Given the description of an element on the screen output the (x, y) to click on. 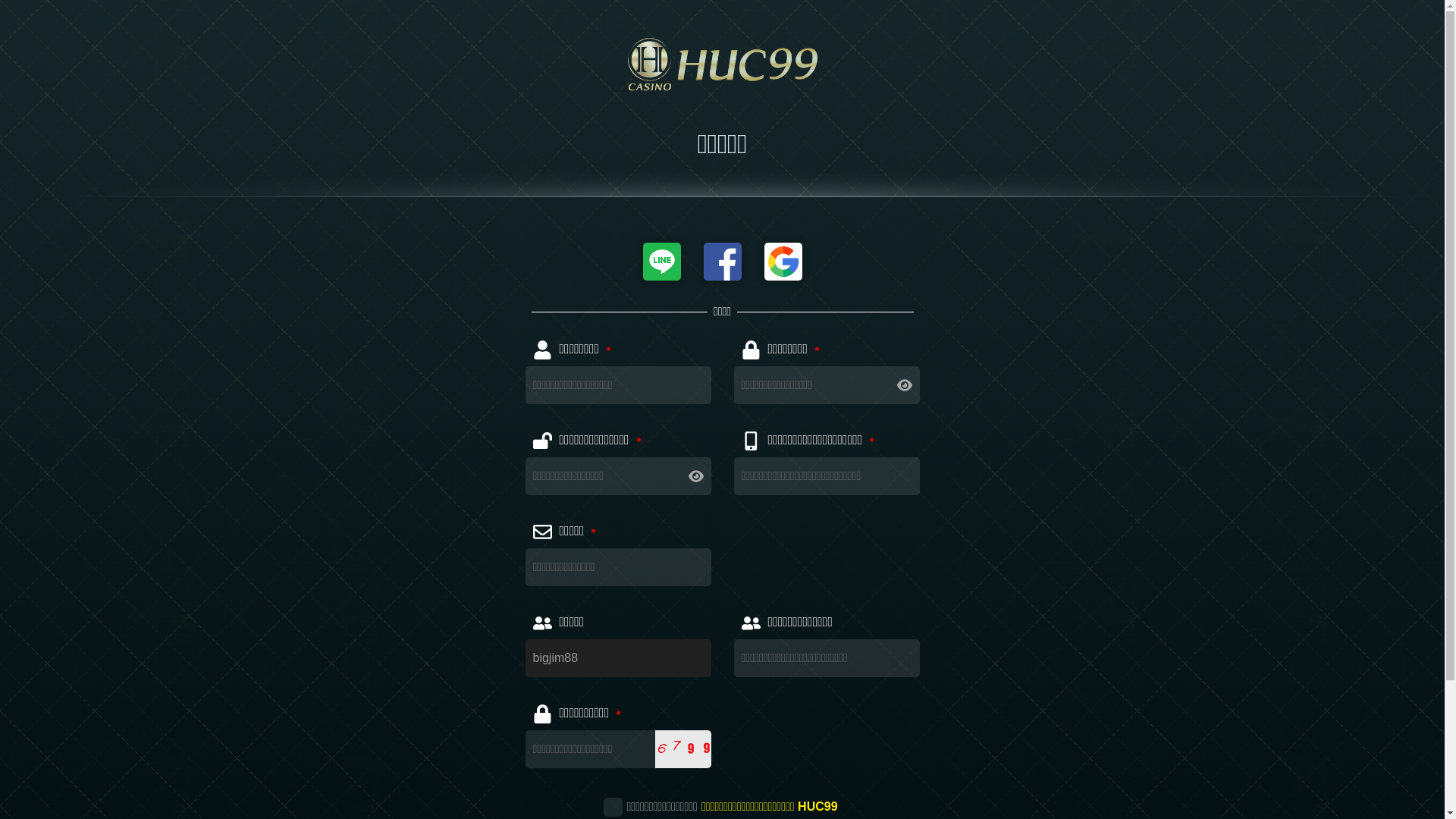
HUC99 Element type: hover (722, 63)
